Given the description of an element on the screen output the (x, y) to click on. 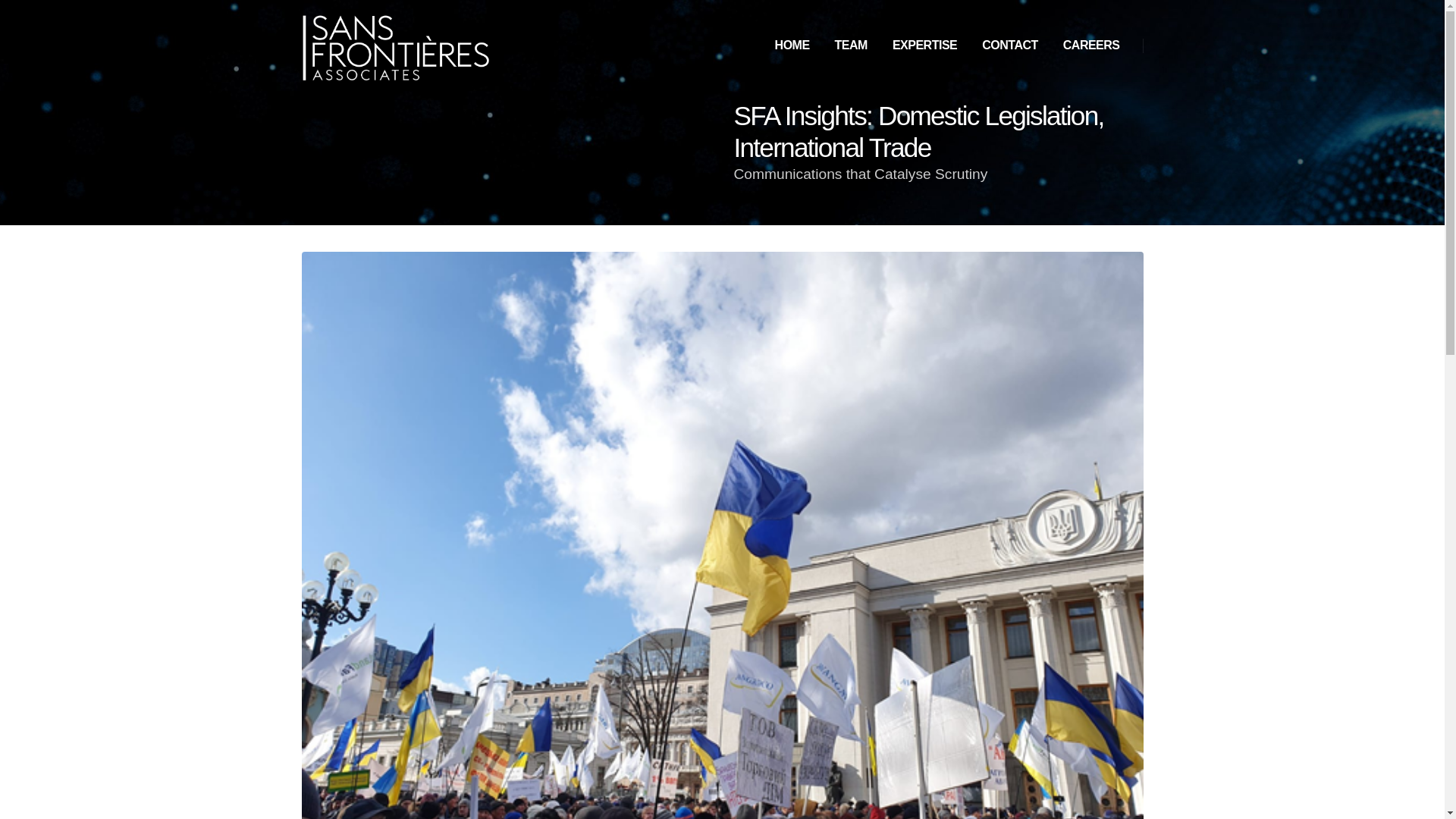
TEAM (850, 45)
HOME (792, 45)
CAREERS (1091, 45)
CONTACT (1009, 45)
EXPERTISE (924, 45)
